Given the description of an element on the screen output the (x, y) to click on. 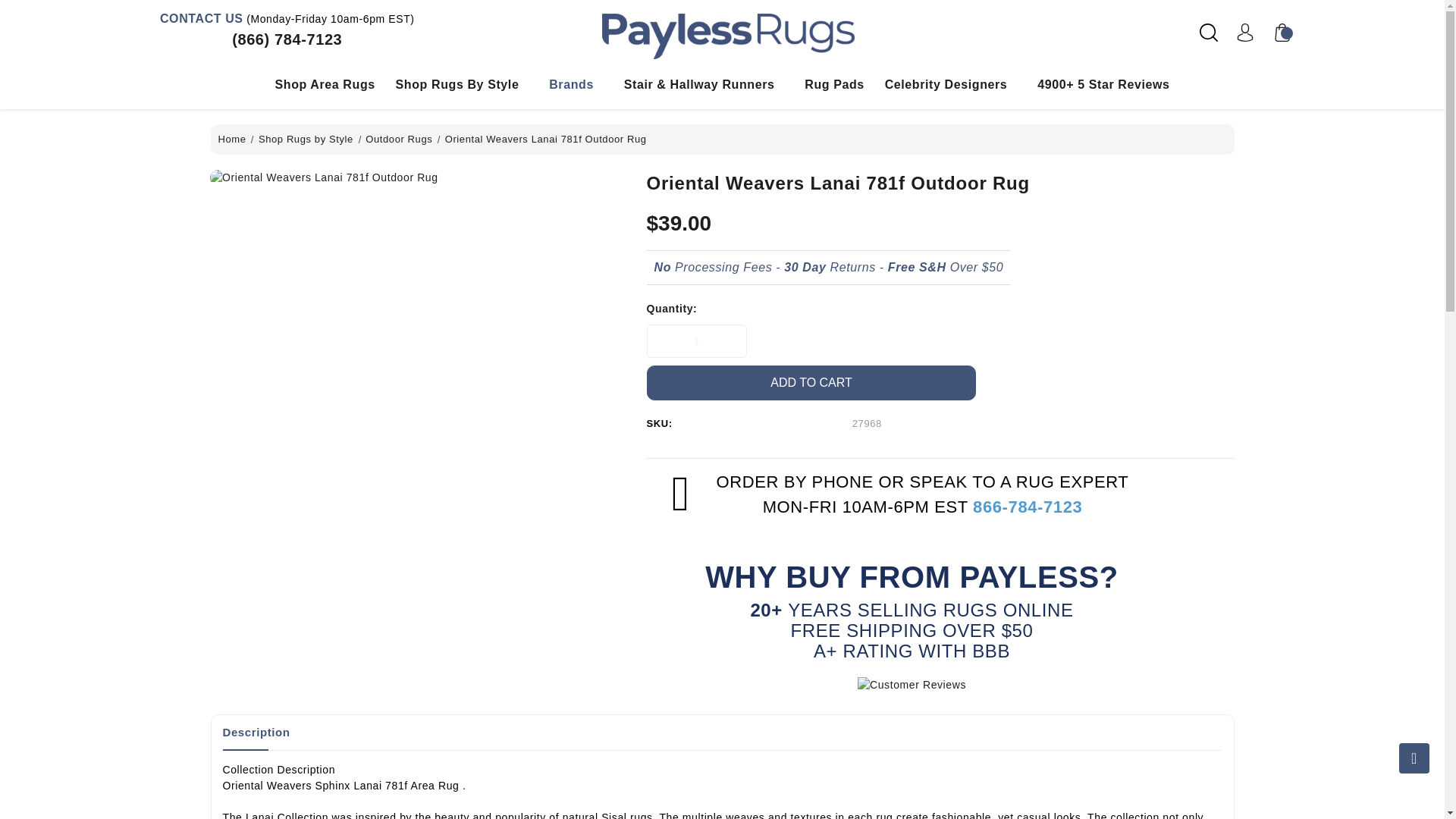
CONTACT US (201, 18)
Payless Rugs (728, 35)
Shop Rugs By Style (462, 84)
Scroll to Top (1414, 757)
Brands (576, 84)
1 (696, 341)
Shop Area Rugs (323, 84)
Oriental Weavers Lanai 781f Outdoor Rug (416, 177)
Add to Cart (810, 382)
